Given the description of an element on the screen output the (x, y) to click on. 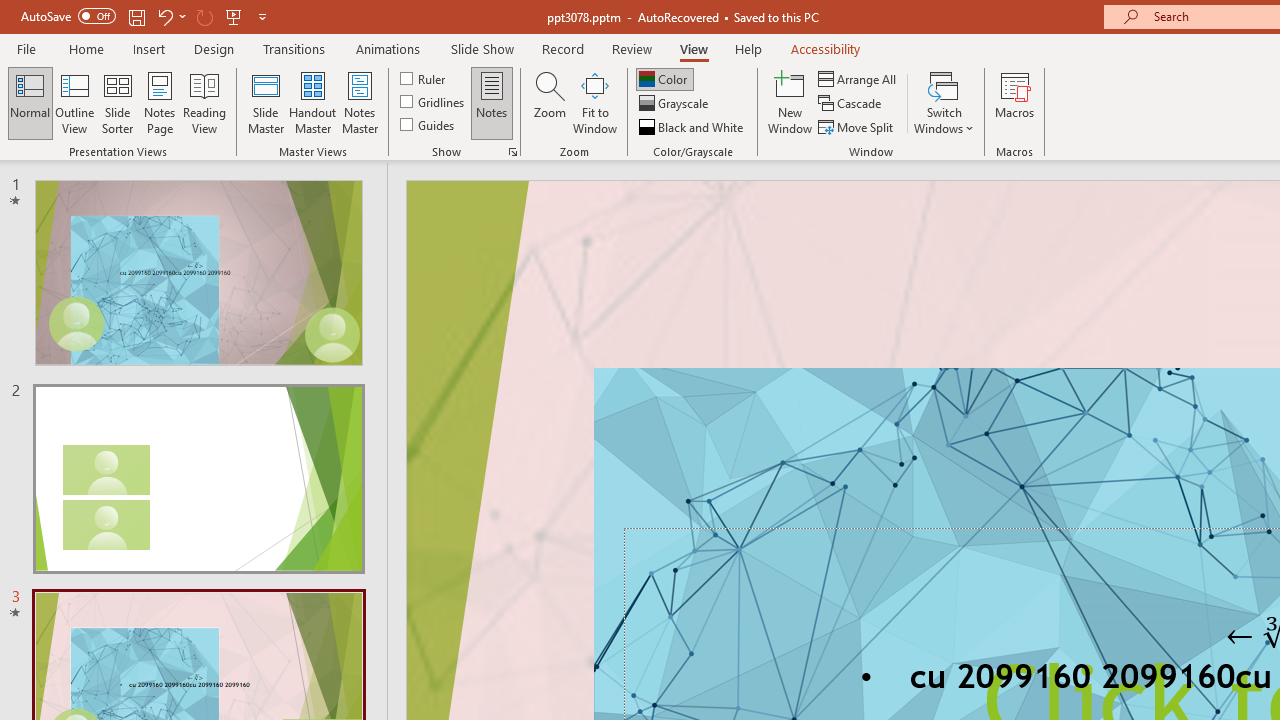
Cascade (851, 103)
Switch Windows (943, 102)
